Given the description of an element on the screen output the (x, y) to click on. 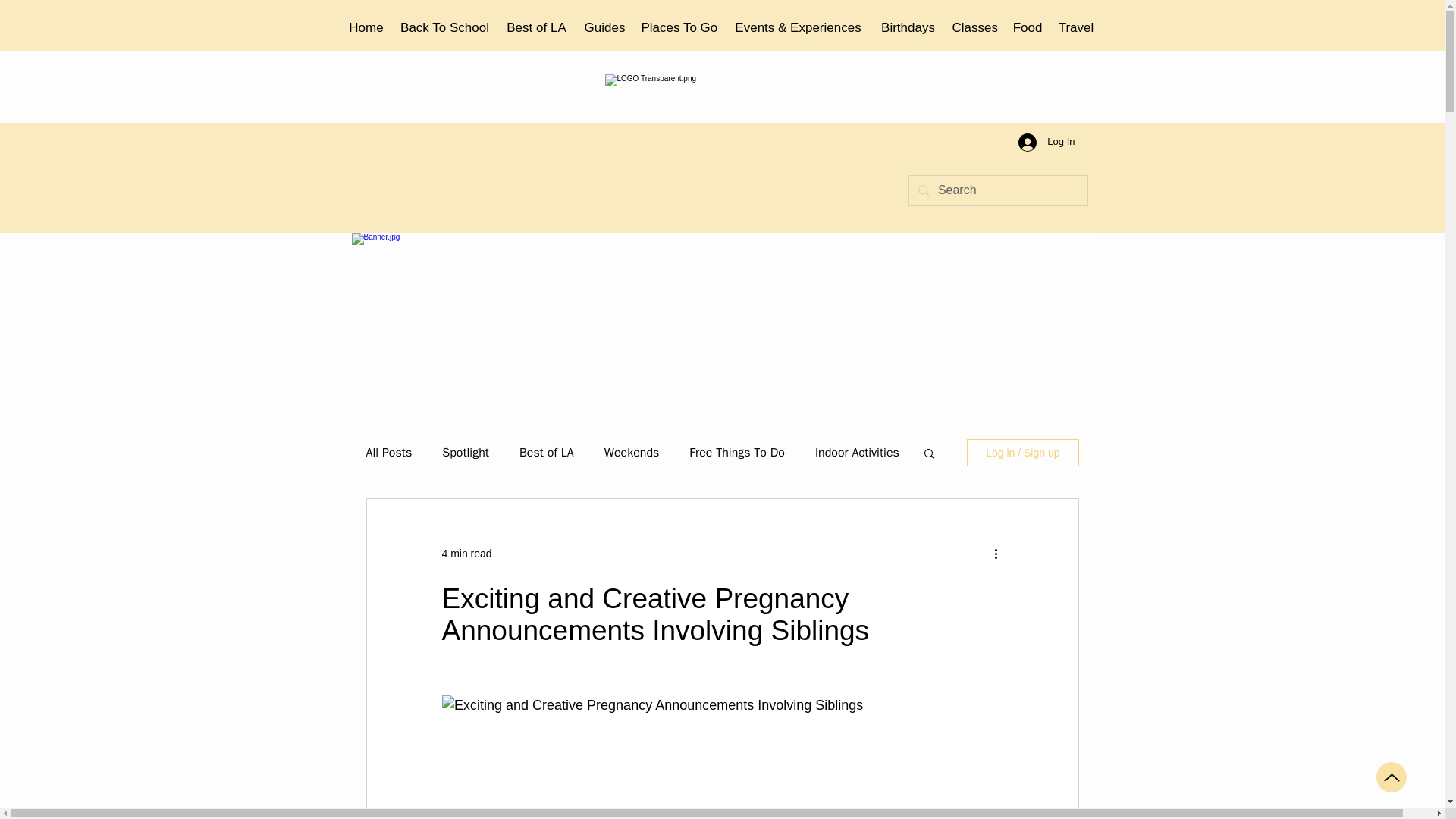
Best of LA (536, 27)
Birthdays (908, 27)
4 min read (466, 553)
Home (365, 27)
Back To School (445, 27)
